Given the description of an element on the screen output the (x, y) to click on. 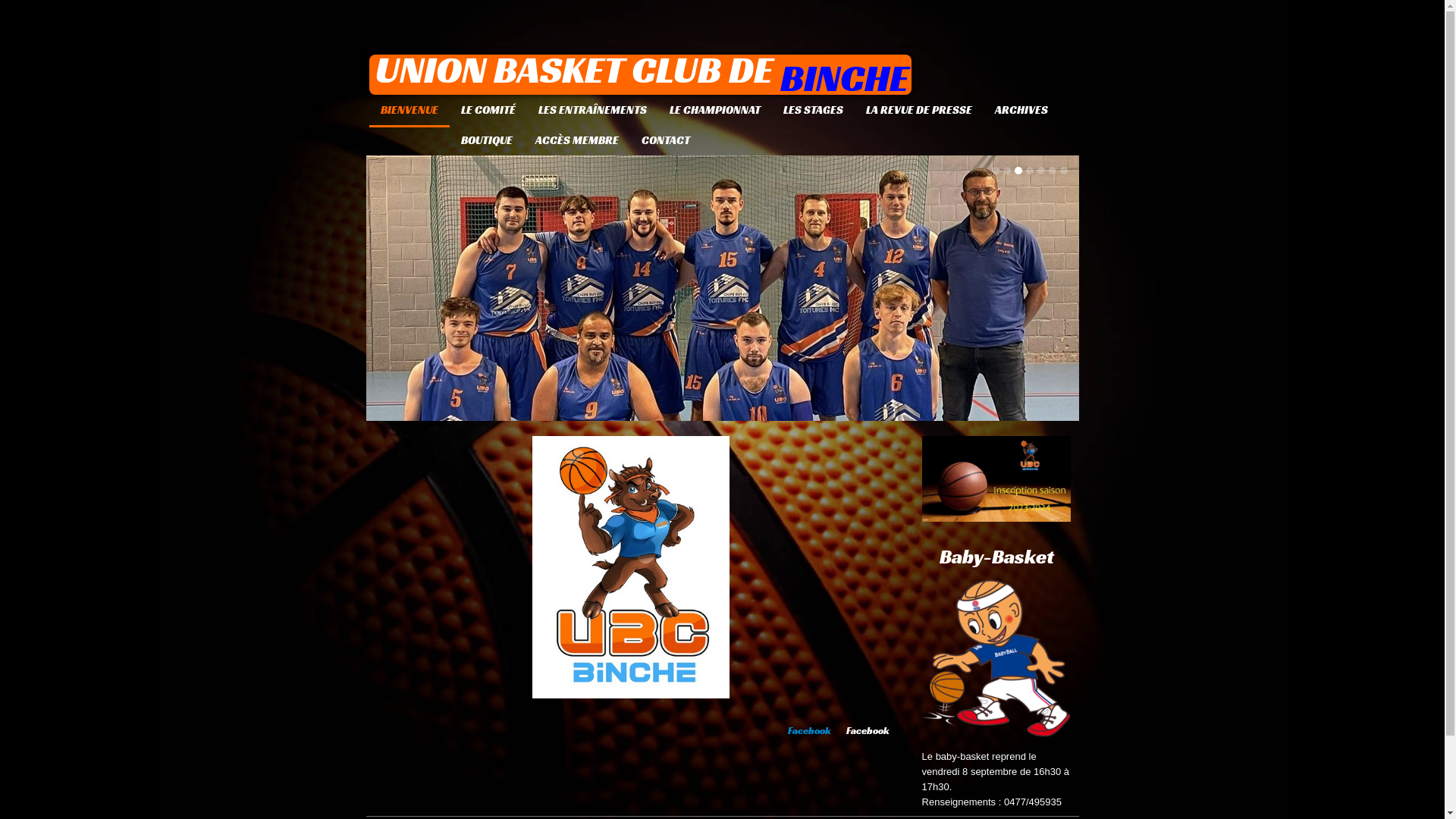
LE CHAMPIONNAT Element type: text (714, 109)
LA REVUE DE PRESSE Element type: text (917, 109)
CONTACT Element type: text (664, 140)
BOUTIQUE Element type: text (485, 140)
UNION BASKET CLUB DE BINCHE Element type: text (642, 74)
BIENVENUE Element type: text (408, 110)
Facebook Element type: text (809, 730)
ARCHIVES Element type: text (1020, 109)
LES STAGES Element type: text (812, 109)
